Given the description of an element on the screen output the (x, y) to click on. 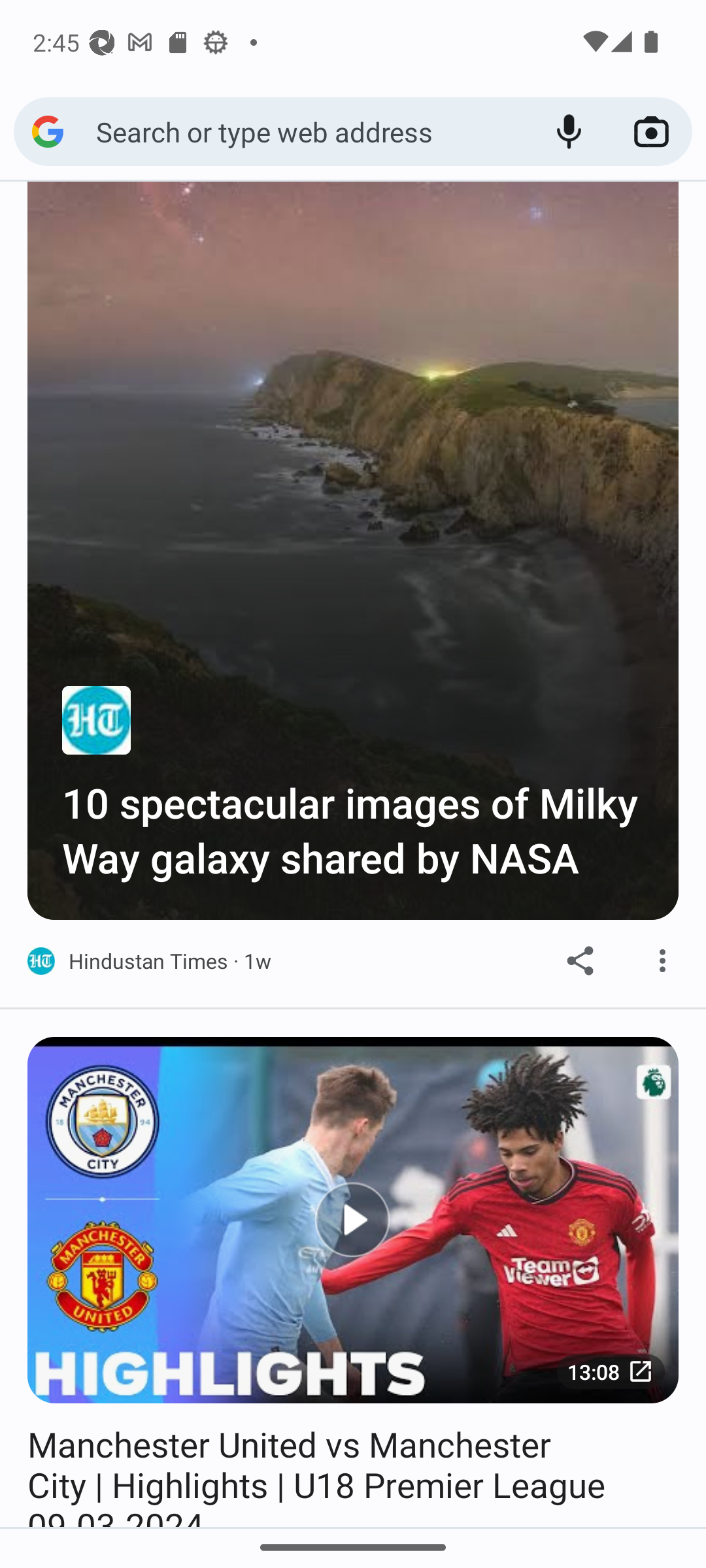
Start voice search (568, 131)
Search with your camera using Google Lens (650, 131)
Search or type web address (311, 131)
